Given the description of an element on the screen output the (x, y) to click on. 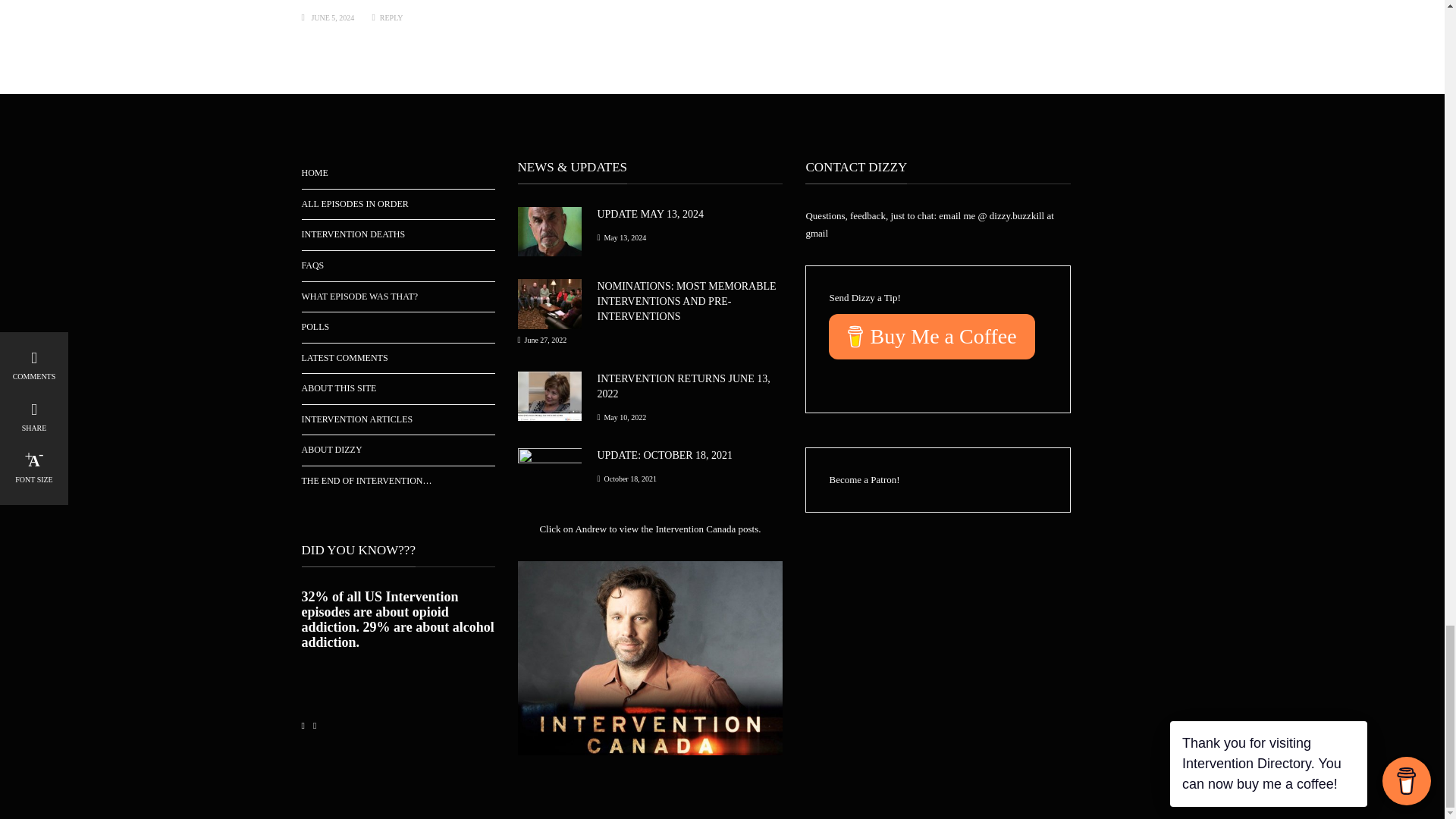
Intervention Returns June 13, 2022 (683, 386)
Intervention Returns June 13, 2022 (548, 394)
Update May 13, 2024 (548, 230)
Update May 13, 2024 (649, 214)
